Given the description of an element on the screen output the (x, y) to click on. 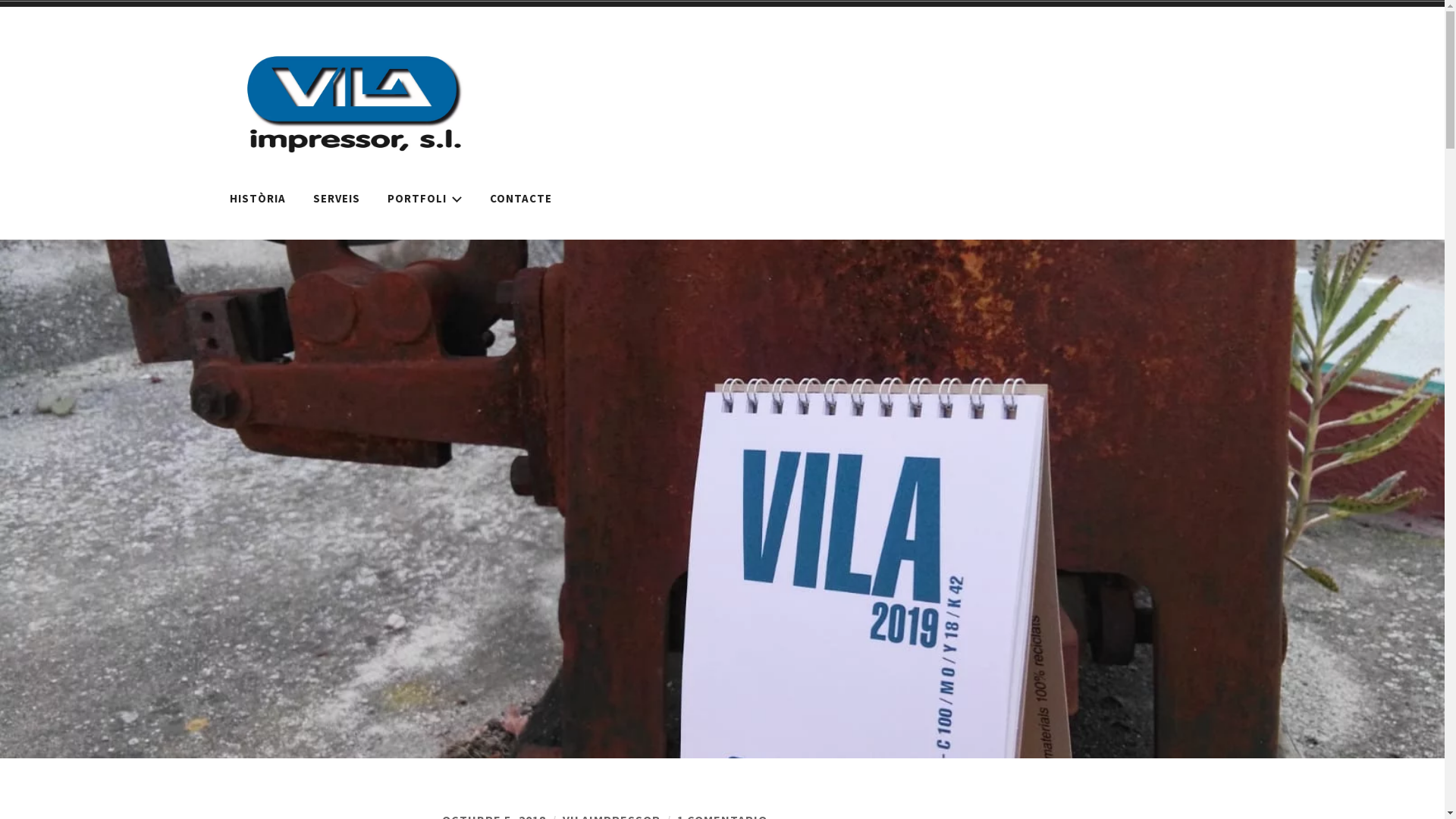
CONTACTE Element type: text (519, 198)
Vila Impressor Element type: text (679, 121)
SERVEIS Element type: text (336, 198)
Skip to content Element type: text (0, 0)
PORTFOLI Element type: text (424, 198)
